Given the description of an element on the screen output the (x, y) to click on. 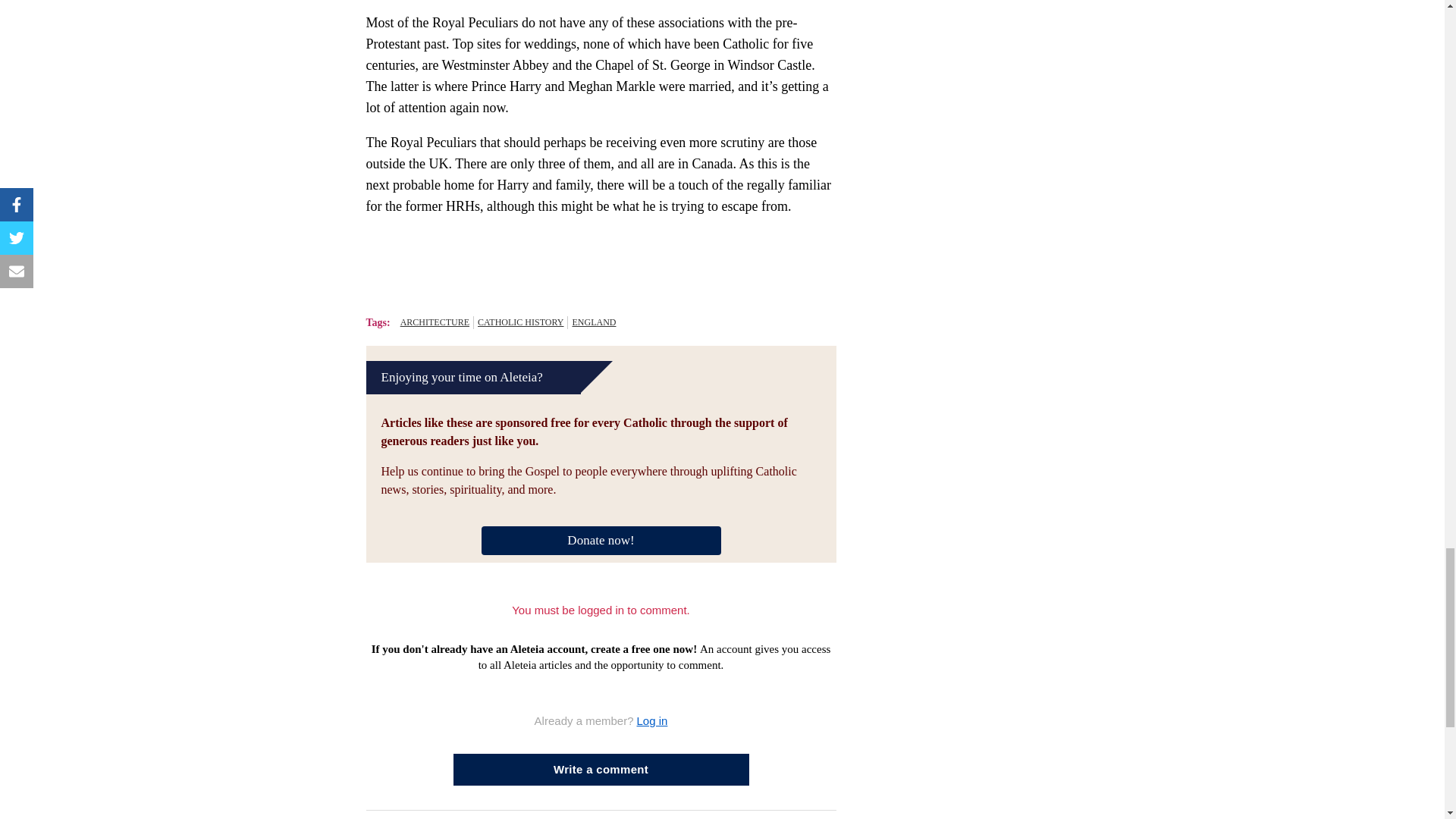
ARCHITECTURE (435, 322)
